Given the description of an element on the screen output the (x, y) to click on. 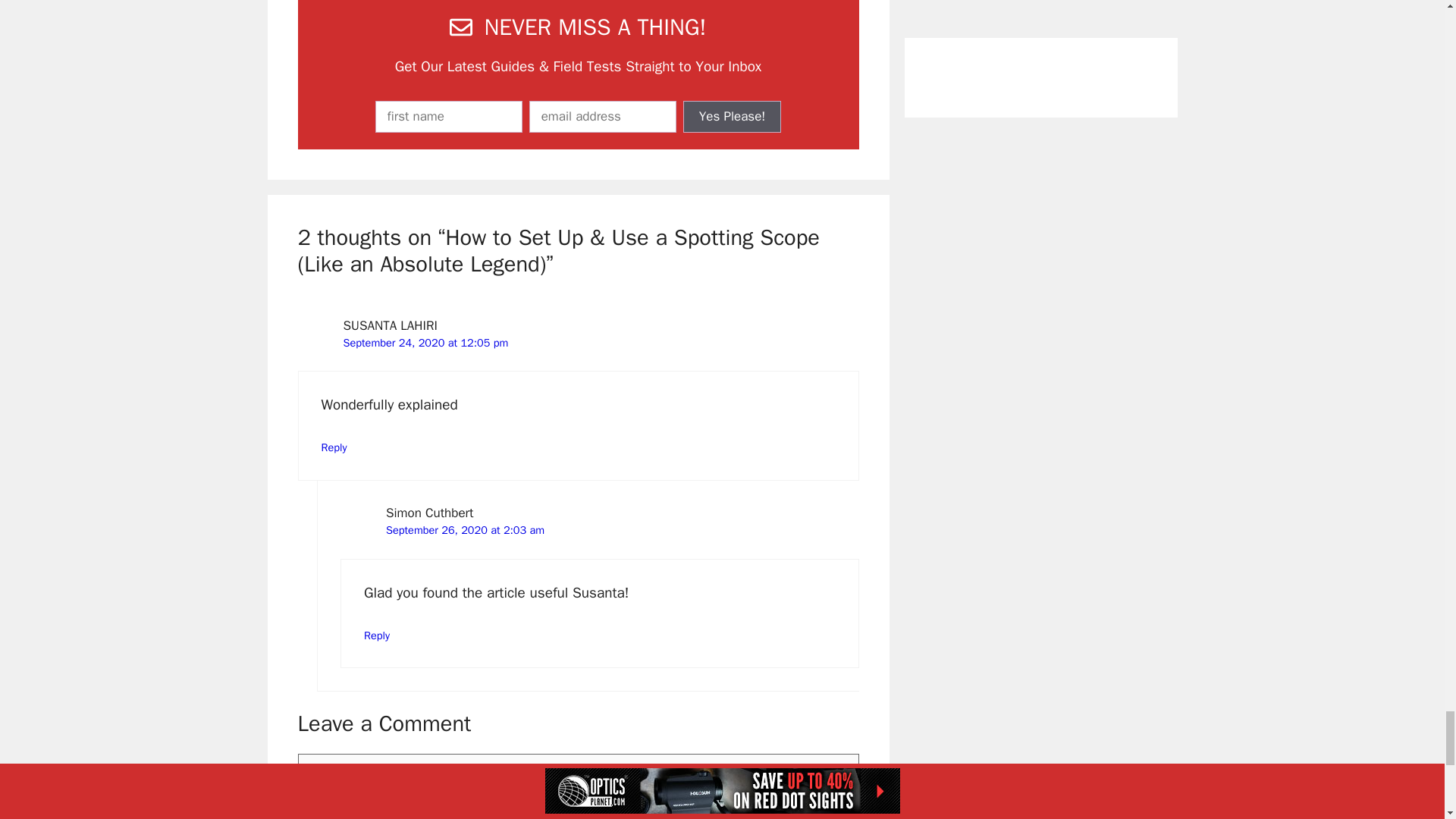
Yes Please! (731, 116)
